Given the description of an element on the screen output the (x, y) to click on. 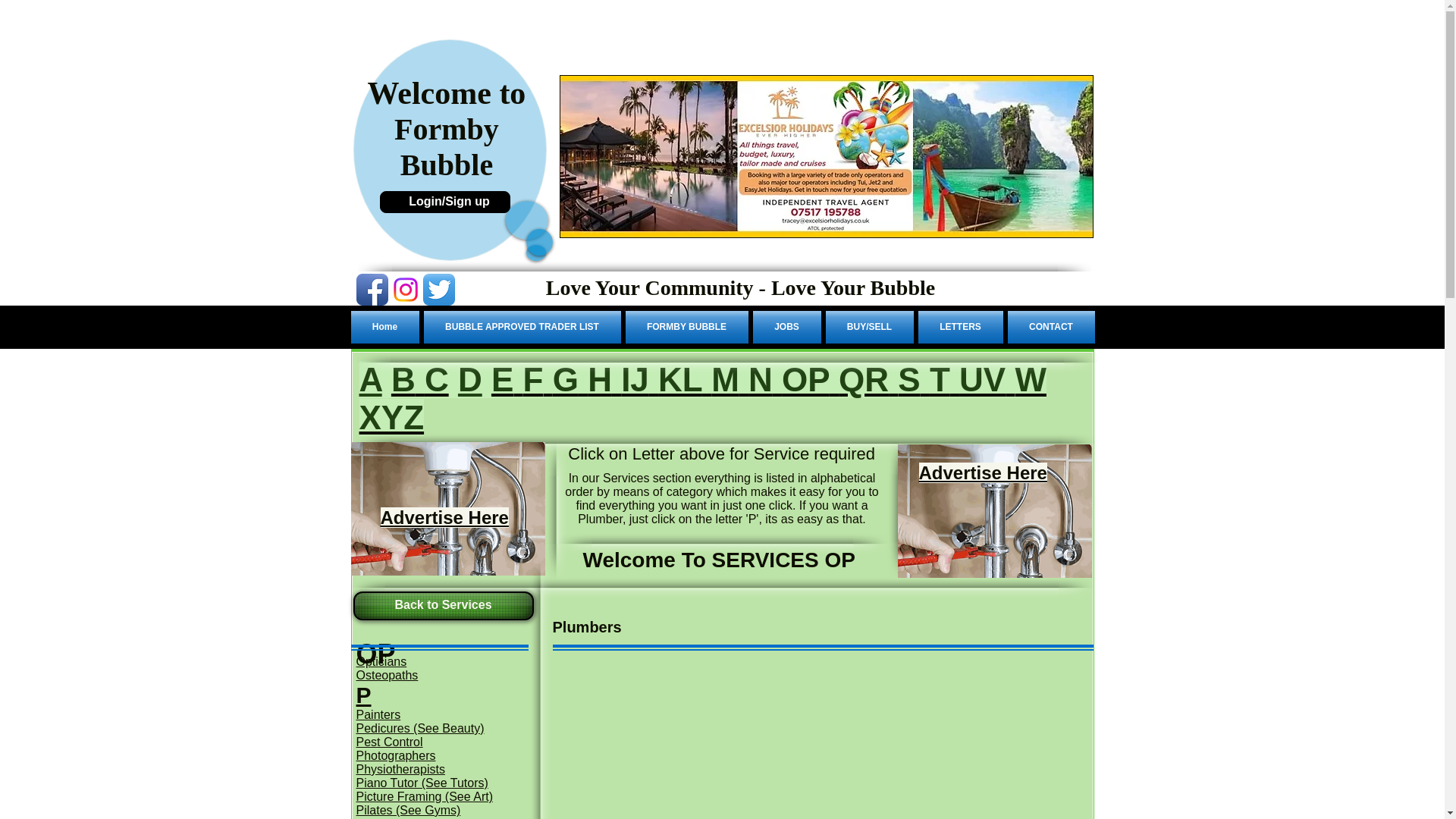
Home (385, 327)
CONTACT (1050, 327)
JOBS (787, 327)
BUBBLE APPROVED TRADER LIST (522, 327)
Maxiflow-Plumbing-and-Heating-1.png (995, 511)
Maxiflow-Plumbing-and-Heating-1.png (447, 508)
FORMBY BUBBLE (687, 327)
LETTERS (960, 327)
